Given the description of an element on the screen output the (x, y) to click on. 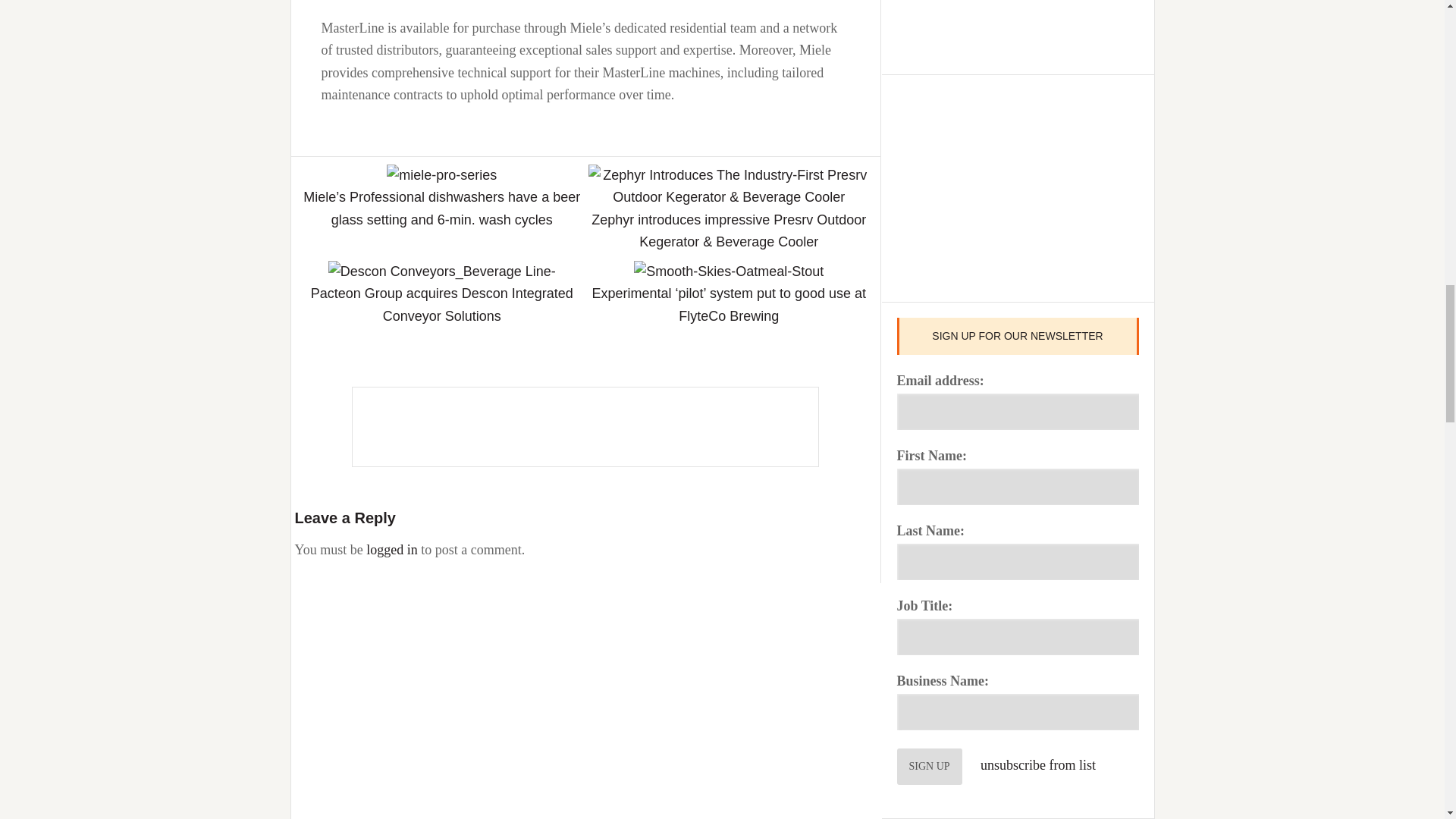
logged in (391, 549)
Sign up (928, 766)
Pacteon Group acquires Descon Integrated Conveyor Solutions (442, 303)
